Given the description of an element on the screen output the (x, y) to click on. 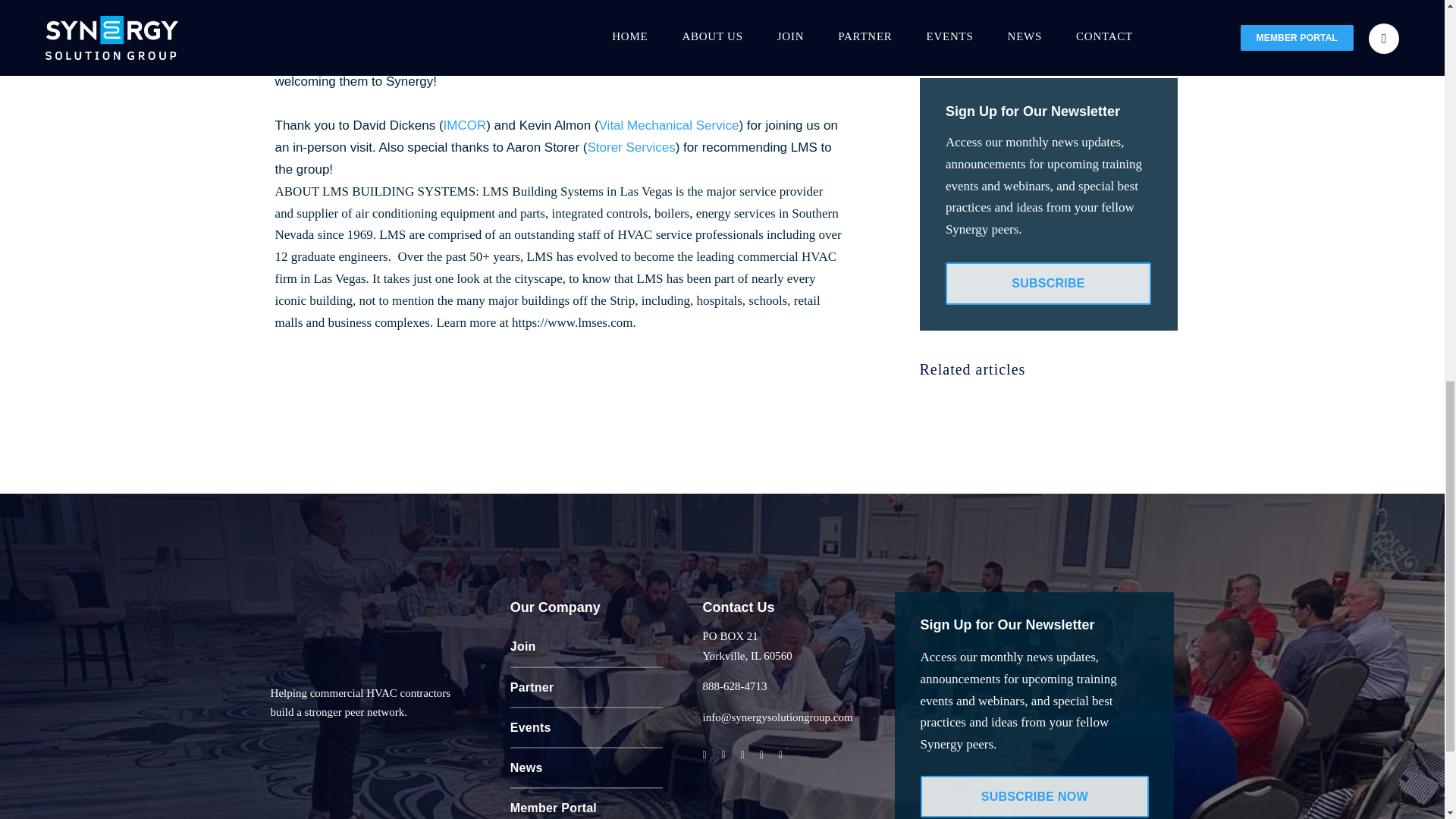
Partner (587, 688)
IMCOR (465, 124)
News (587, 768)
Events (587, 728)
Vital Mechanical Service (668, 124)
Member Portal (587, 803)
Storer Services (630, 147)
LMS Building Systems (491, 59)
Join (587, 647)
SUBSCRIBE NOW (1035, 796)
